Given the description of an element on the screen output the (x, y) to click on. 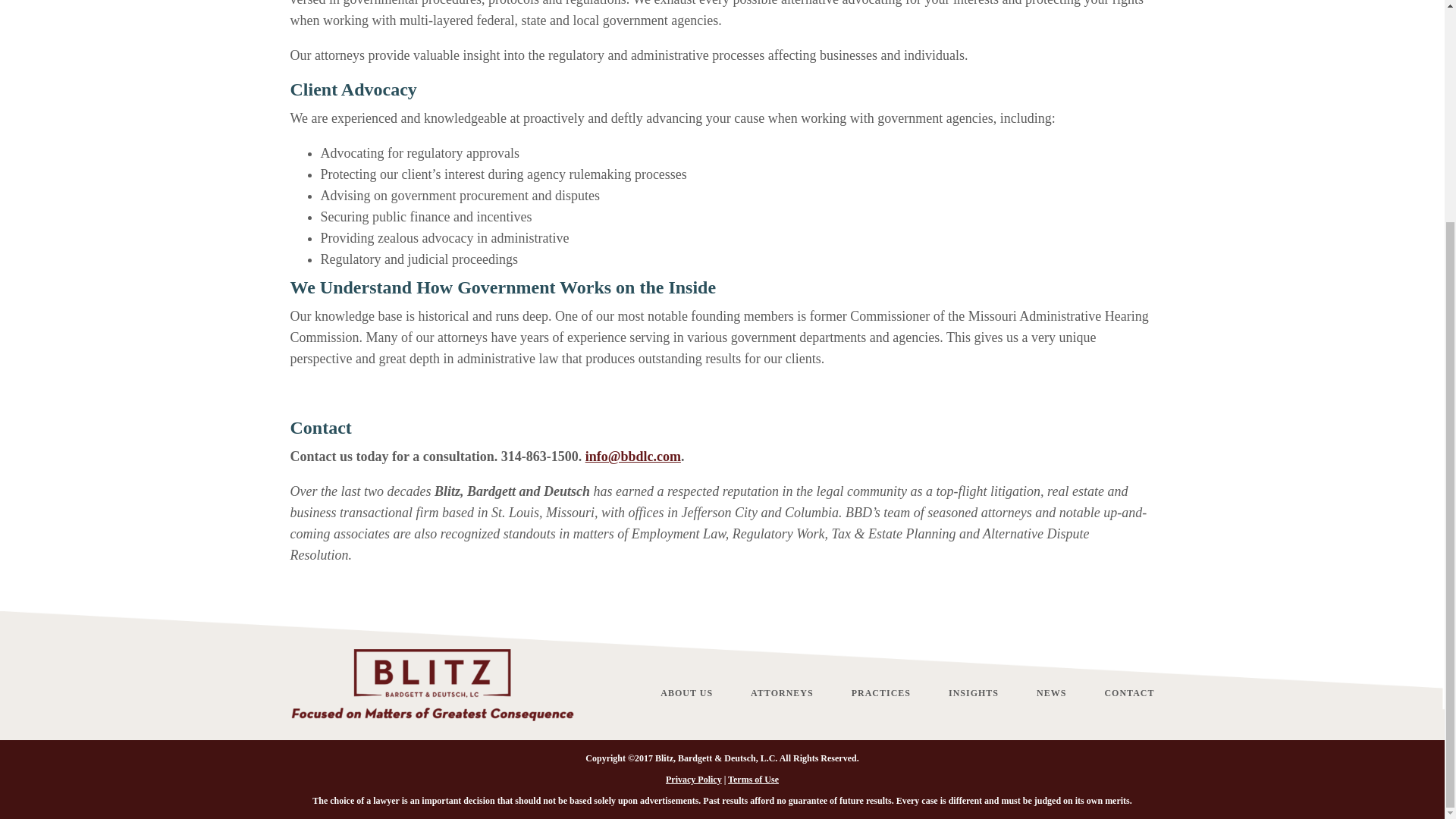
Privacy Policy (693, 778)
Terms of Use (753, 778)
ATTORNEYS (782, 692)
CONTACT (1128, 692)
ABOUT US (687, 692)
PRACTICES (881, 692)
INSIGHTS (973, 692)
